Given the description of an element on the screen output the (x, y) to click on. 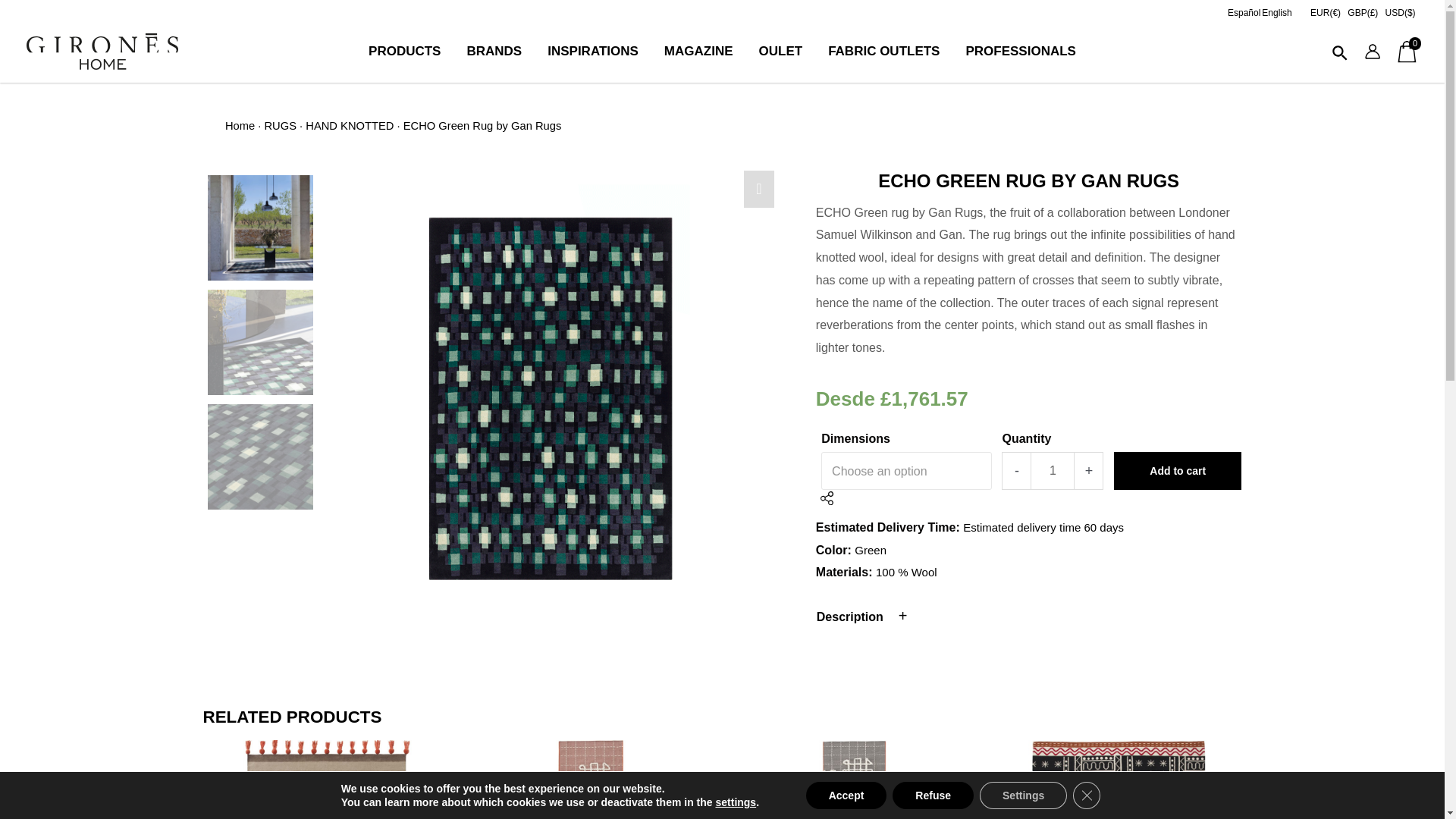
OULET (780, 51)
INSPIRATIONS (592, 51)
English (1276, 12)
Qty (1052, 470)
BRANDS (493, 51)
1 (1052, 470)
MAGAZINE (697, 51)
PRODUCTS (403, 51)
